Given the description of an element on the screen output the (x, y) to click on. 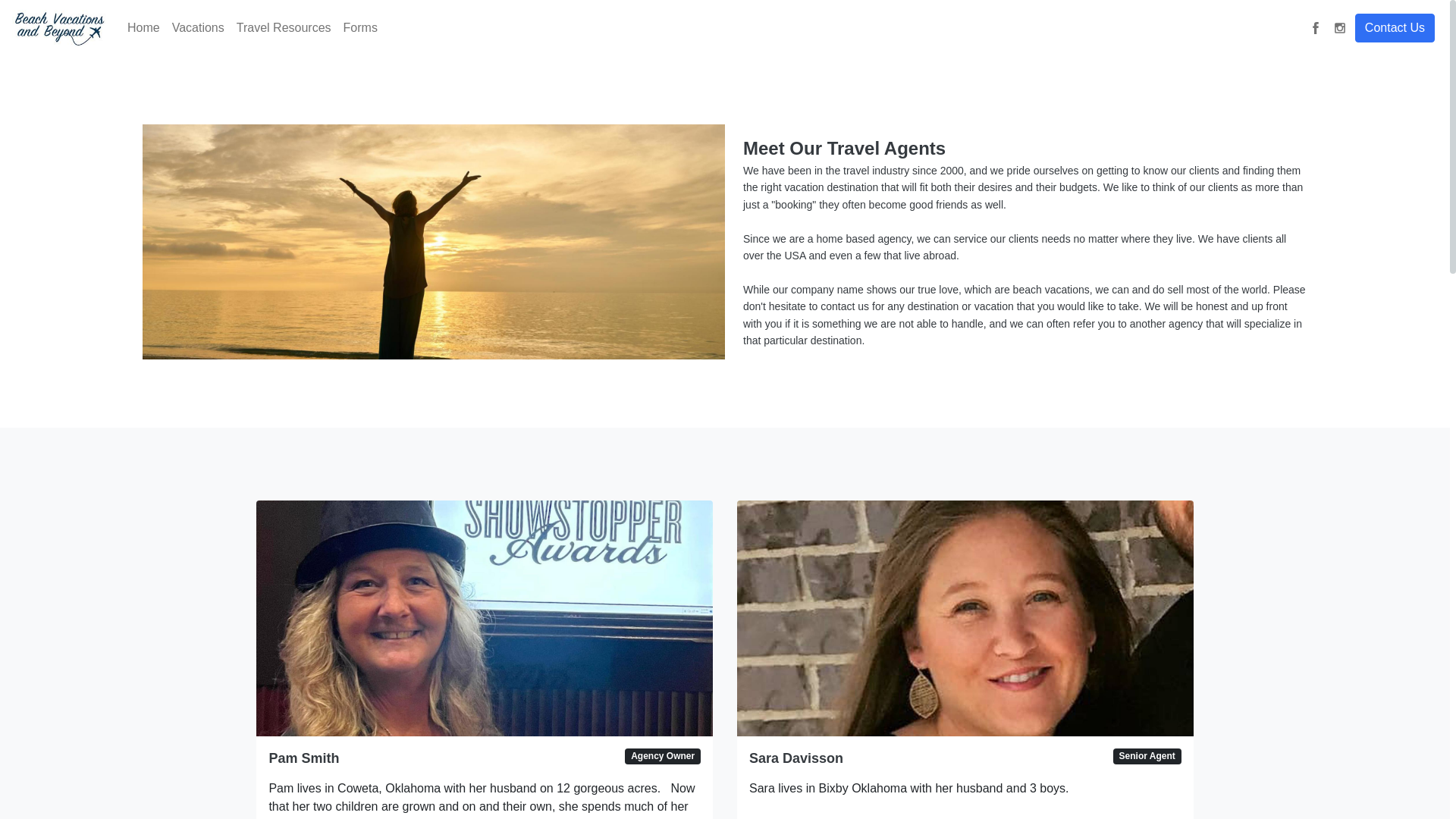
Contact Us (1394, 27)
Vacations (197, 28)
Home (142, 28)
Travel Resources (283, 28)
Forms (360, 28)
